Given the description of an element on the screen output the (x, y) to click on. 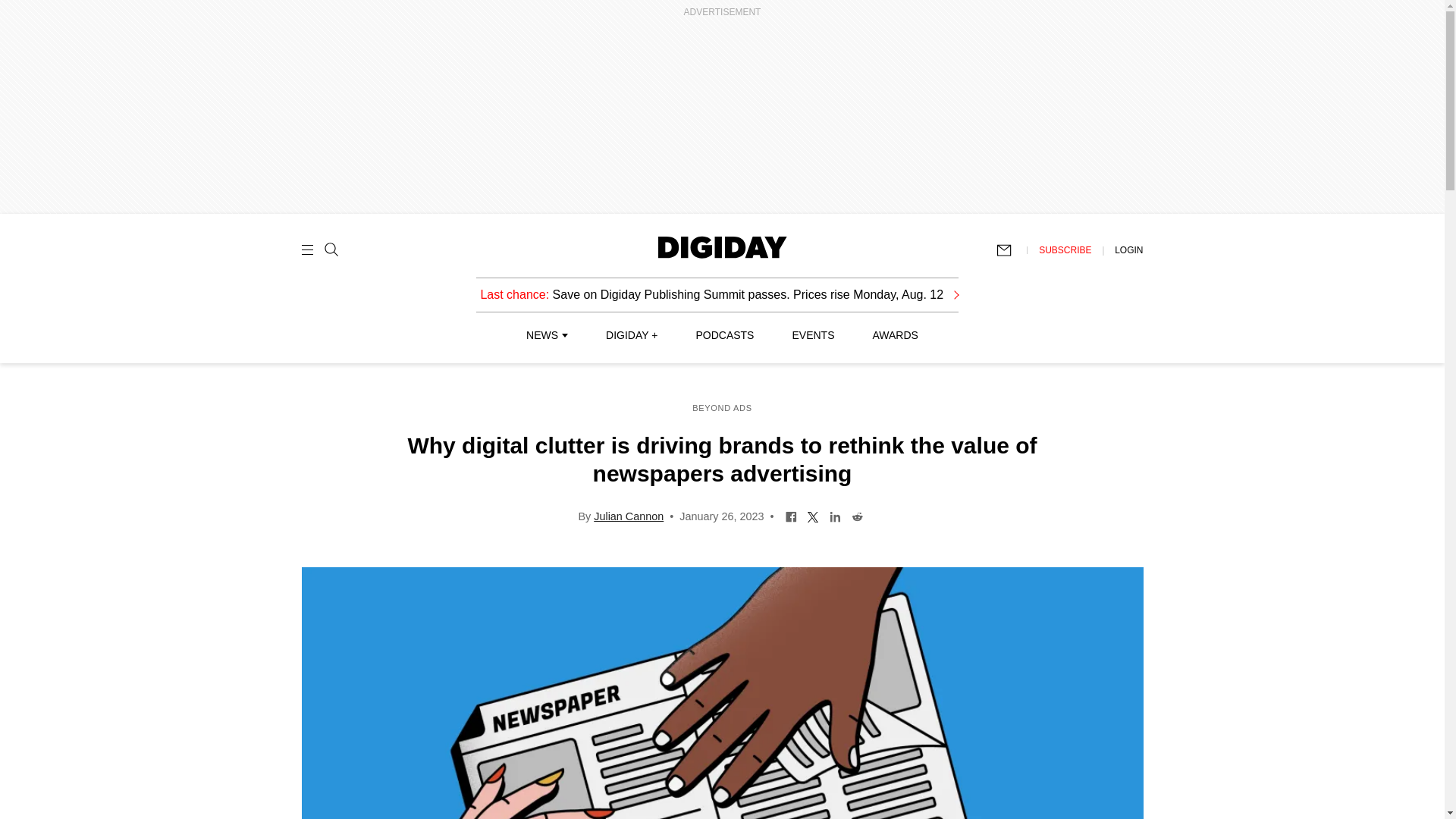
PODCASTS (725, 335)
Share on Twitter (812, 515)
Share on Facebook (790, 515)
LOGIN (1128, 249)
AWARDS (894, 335)
Share on LinkedIn (834, 515)
NEWS (546, 335)
Share on Reddit (856, 515)
Subscribe (1010, 250)
